Given the description of an element on the screen output the (x, y) to click on. 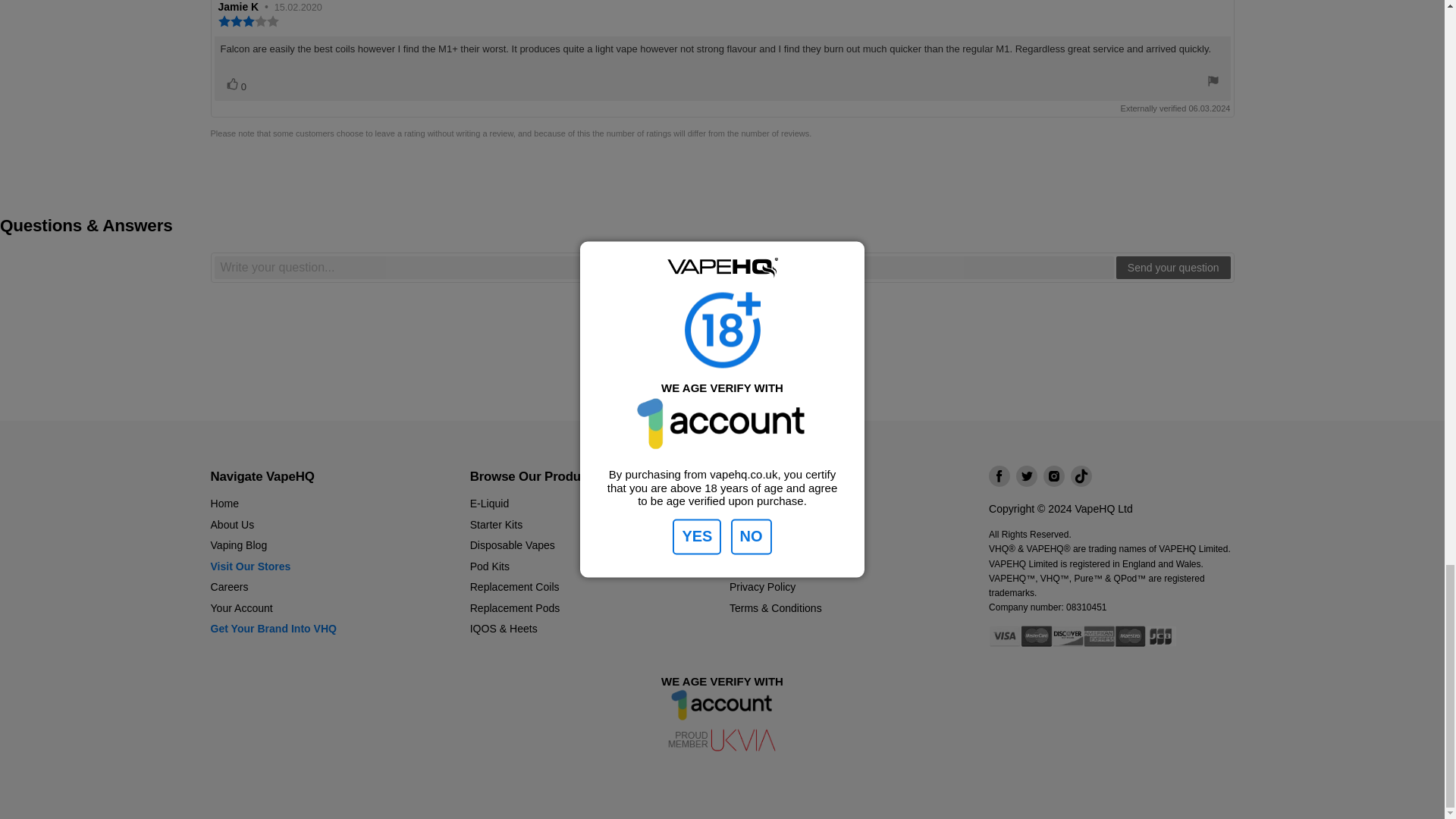
Facebook (999, 476)
Twitter (1026, 476)
